Given the description of an element on the screen output the (x, y) to click on. 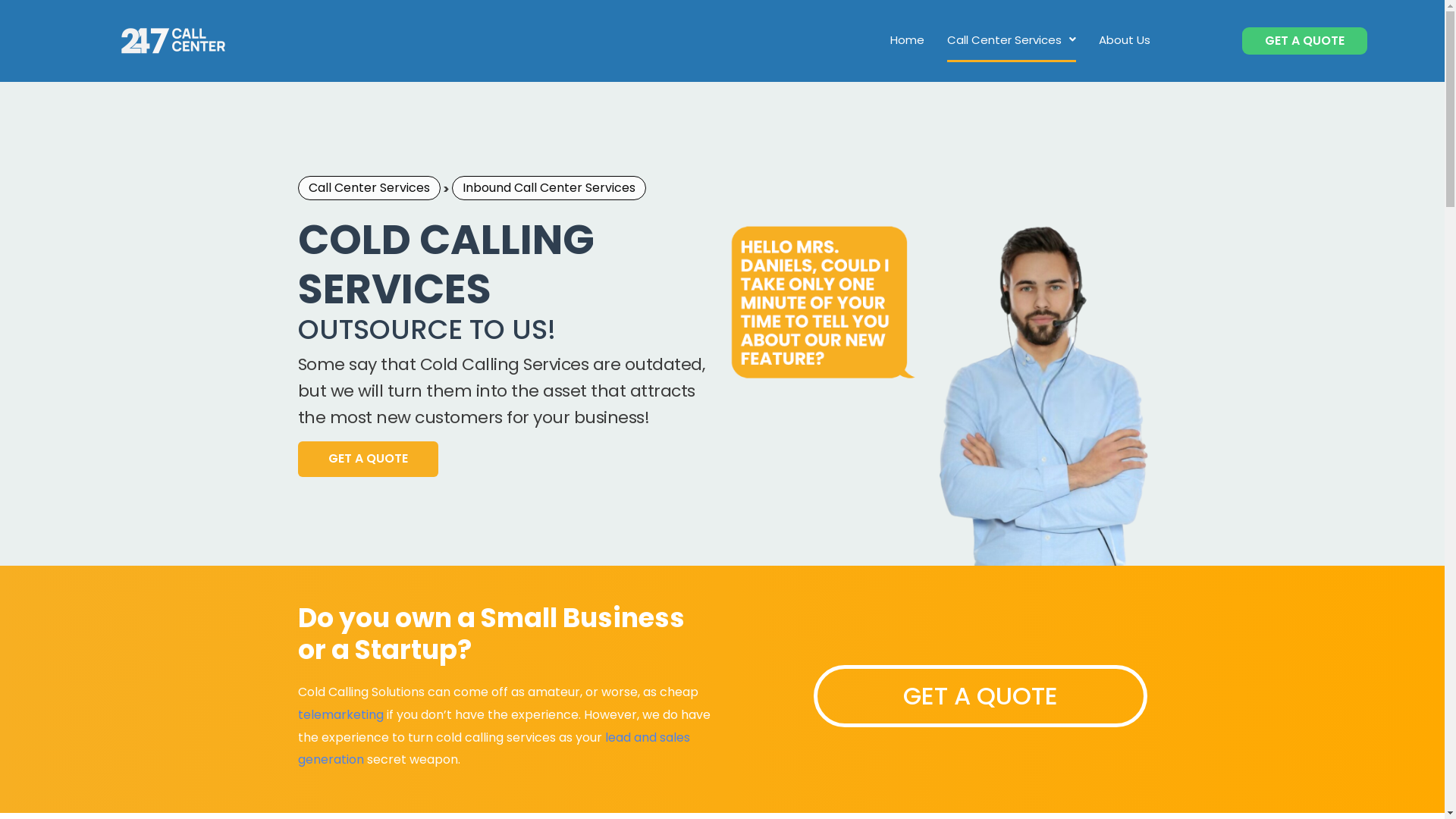
lead and sales generation Element type: text (493, 748)
Call Center Services Element type: text (368, 187)
GET A QUOTE Element type: text (979, 696)
Home Element type: text (907, 39)
telemarketing Element type: text (339, 714)
GET A QUOTE Element type: text (1304, 40)
GET A QUOTE Element type: text (367, 458)
About Us Element type: text (1124, 39)
Inbound Call Center Services Element type: text (548, 187)
Call Center Services Element type: text (1011, 40)
